Given the description of an element on the screen output the (x, y) to click on. 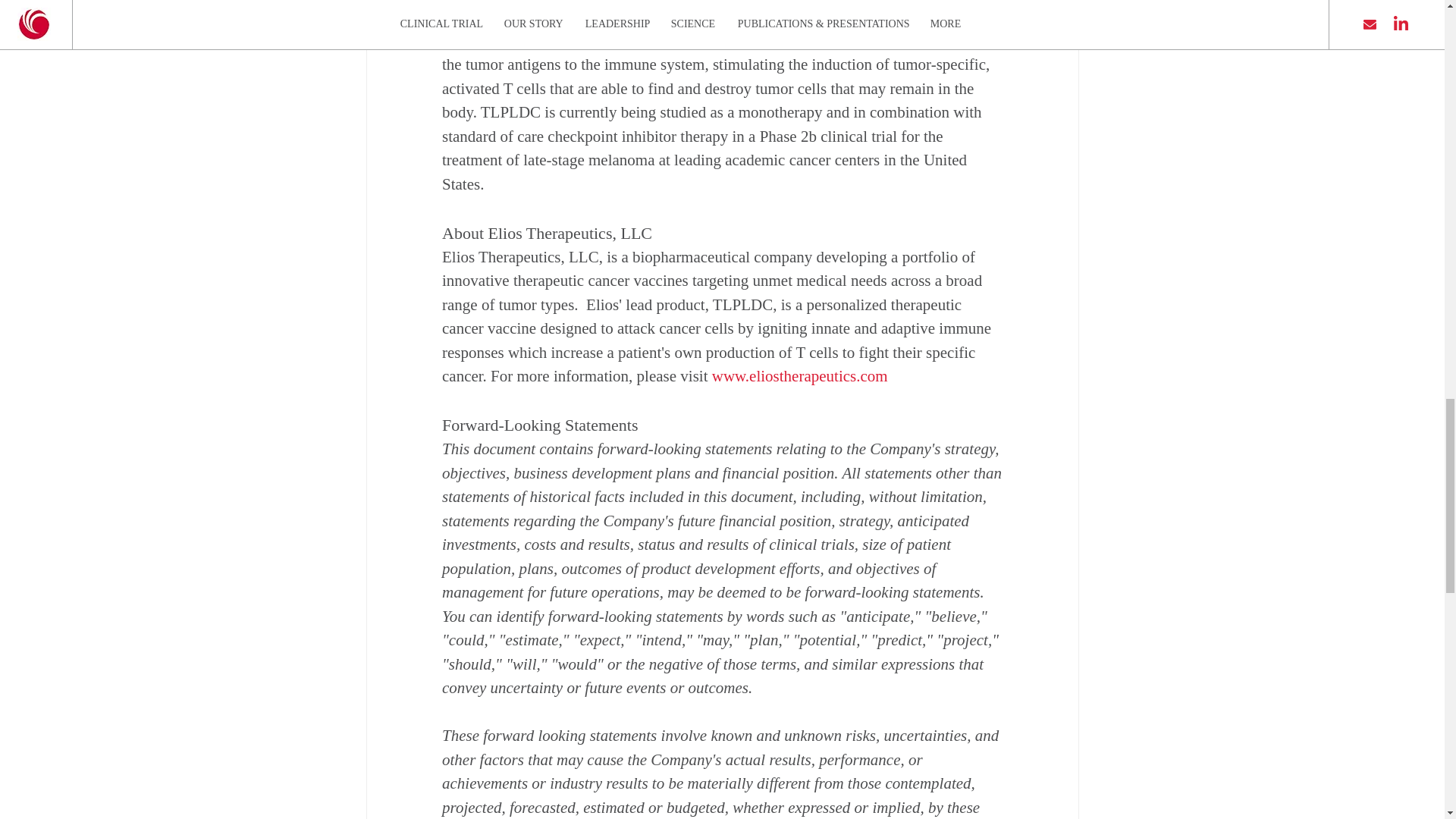
www.eliostherapeutics.com (798, 375)
